Given the description of an element on the screen output the (x, y) to click on. 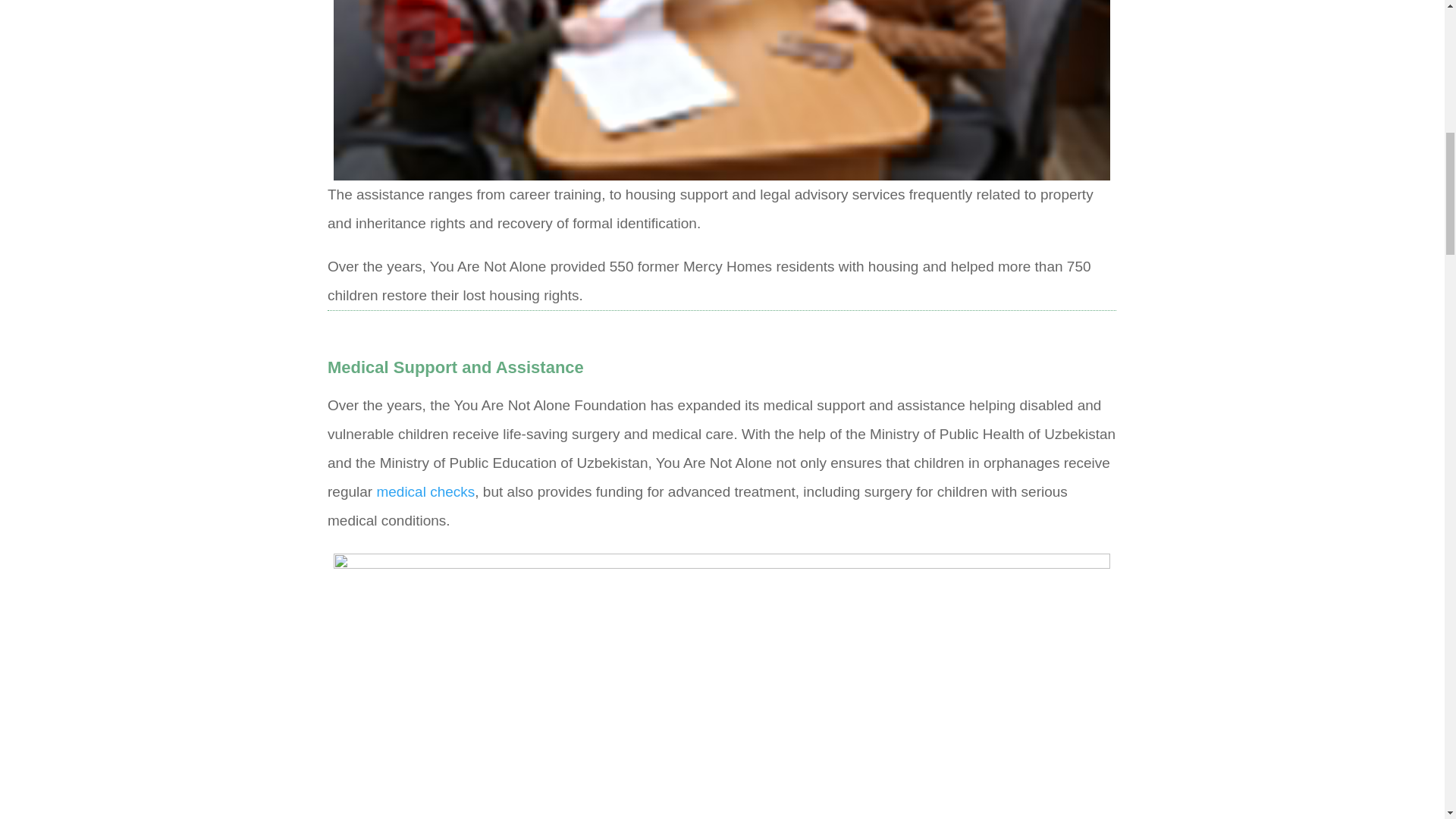
Medical Support and Assistance (455, 366)
medical checks (424, 491)
